Given the description of an element on the screen output the (x, y) to click on. 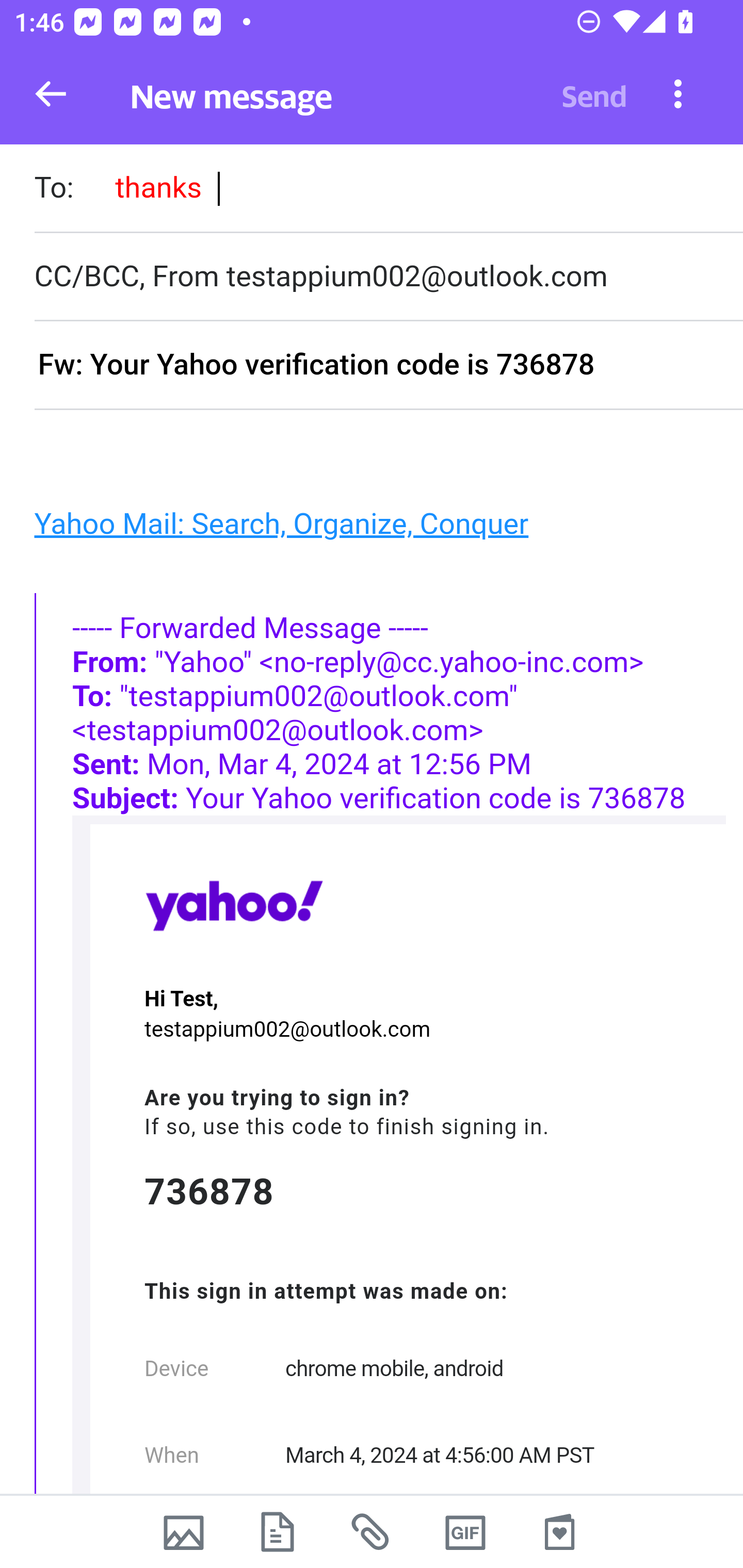
Back (50, 93)
Send (594, 93)
More options (677, 93)
To: thanks (387, 189)
thanks (157, 187)
CC/BCC, From testappium002@outlook.com (387, 276)
Fw: Your Yahoo verification code is 736878 (387, 365)
Yahoo Mail: Search, Organize, Conquer (280, 522)
Camera photos (183, 1531)
Device files (277, 1531)
Recent attachments from mail (371, 1531)
GIFs (465, 1531)
Stationery (559, 1531)
